Given the description of an element on the screen output the (x, y) to click on. 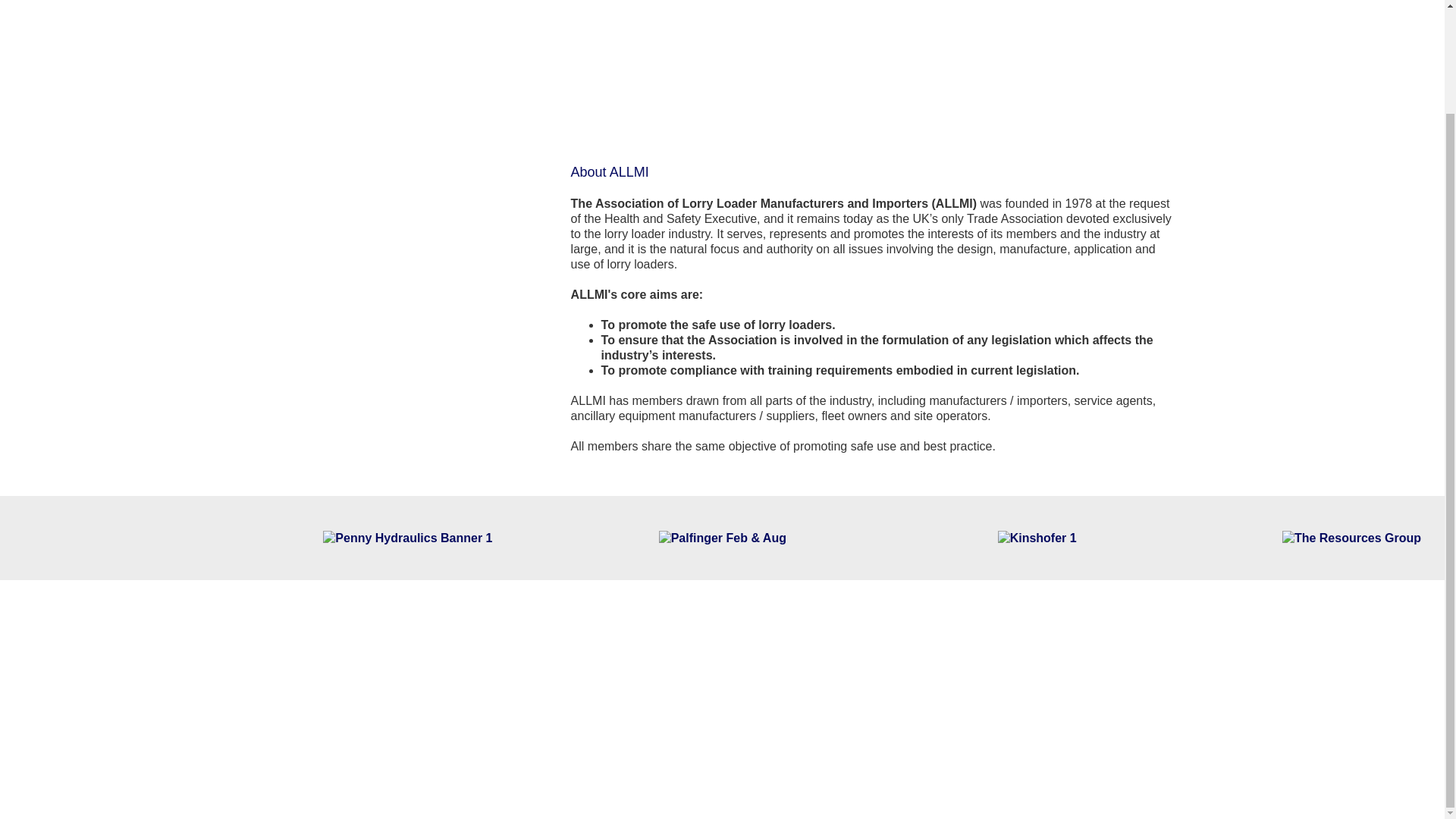
Penny Hydraulics Banner 1 (407, 536)
The Resources Group (1351, 536)
Kinshofer 1 (1036, 536)
